Given the description of an element on the screen output the (x, y) to click on. 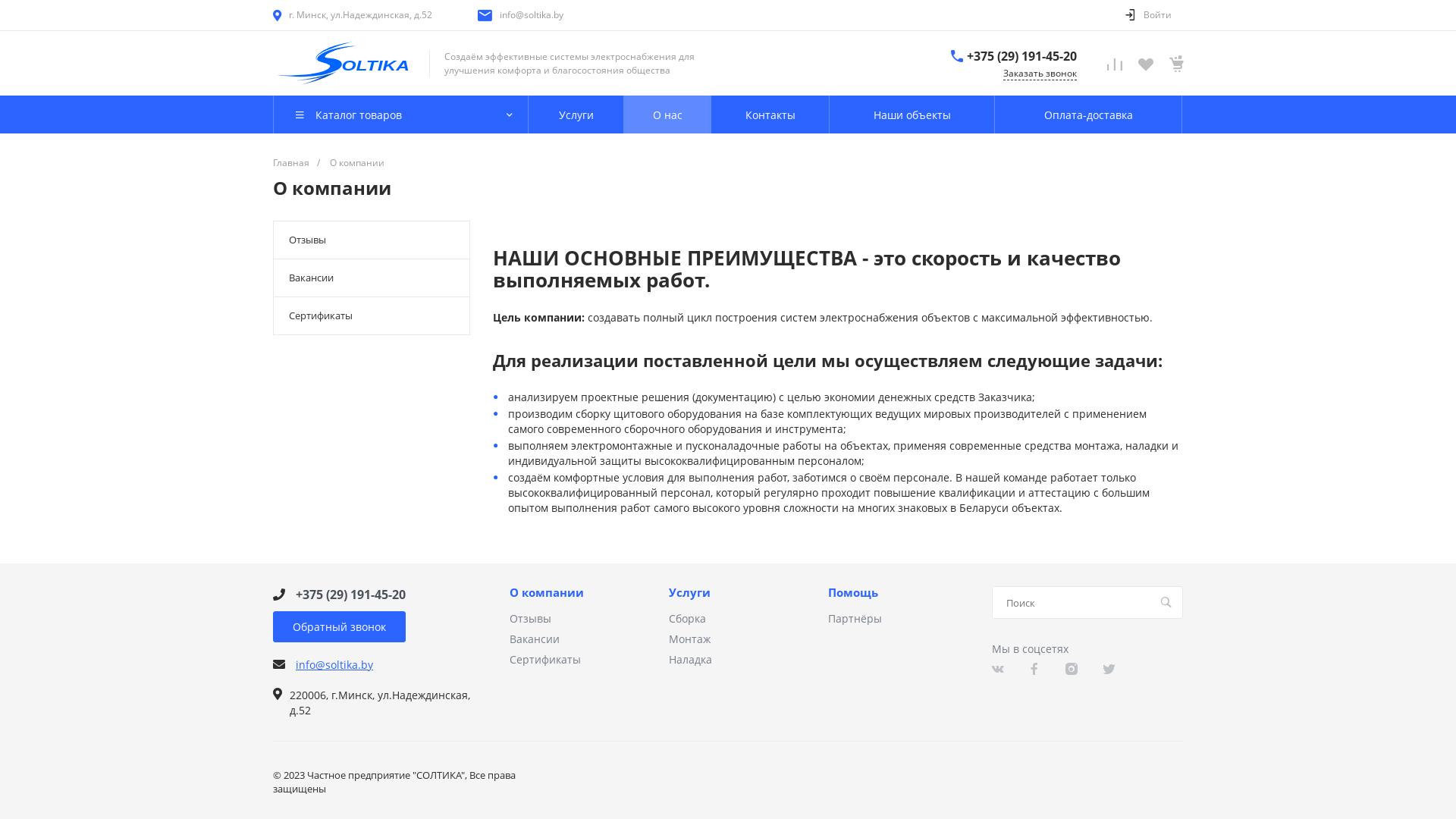
+375 (29) 191-45-20 Element type: text (350, 594)
info@soltika.by Element type: text (334, 664)
info@soltika.by Element type: text (531, 14)
+375 (29) 191-45-20 Element type: text (1021, 55)
